Given the description of an element on the screen output the (x, y) to click on. 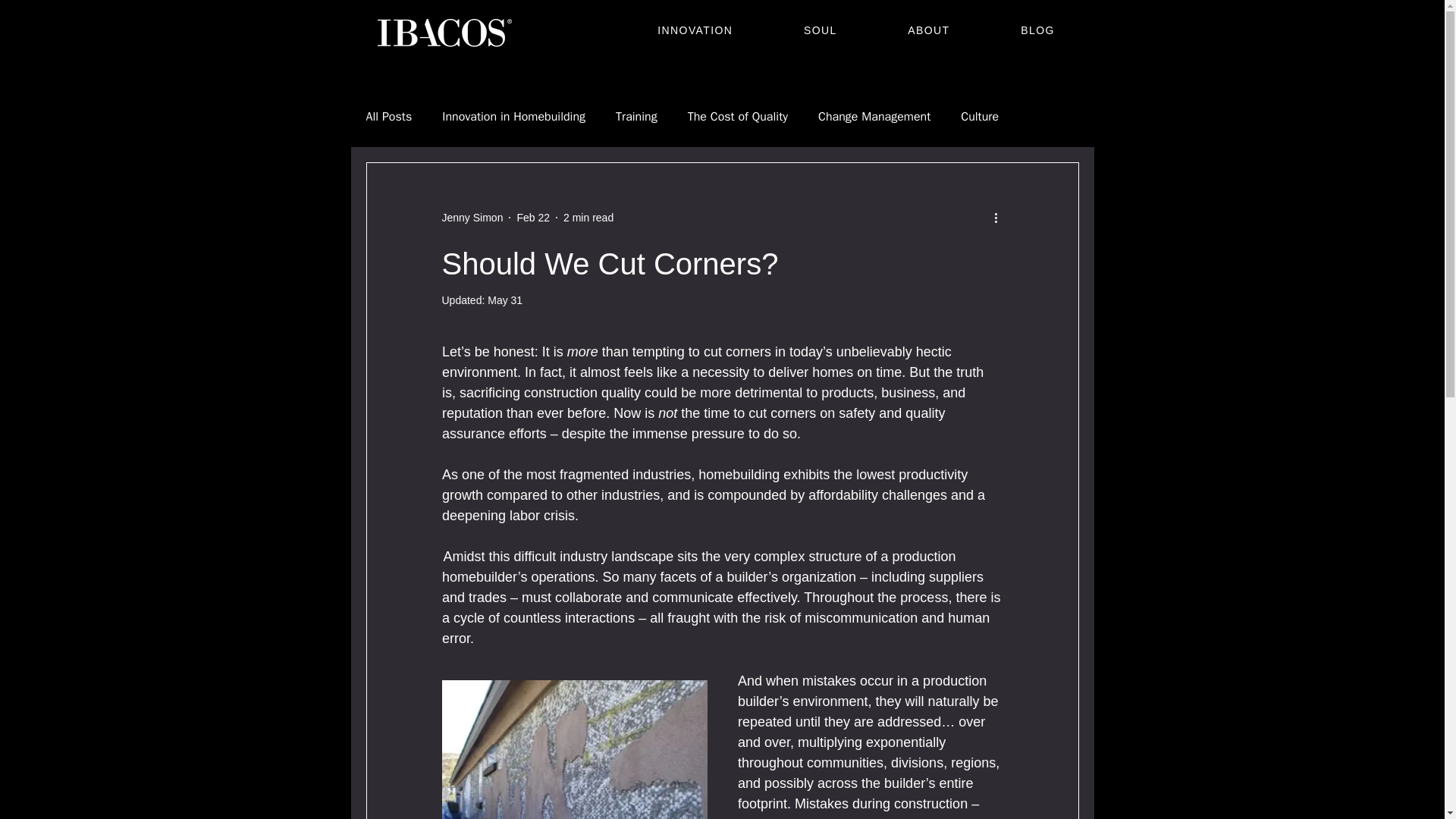
BLOG (1037, 30)
Innovation in Homebuilding (513, 116)
Training (636, 116)
The Cost of Quality (737, 116)
2 min read (587, 216)
ABOUT (929, 30)
SOUL (820, 30)
Culture (979, 116)
Change Management (874, 116)
All Posts (388, 116)
Jenny Simon (471, 217)
Feb 22 (533, 216)
May 31 (504, 300)
